Given the description of an element on the screen output the (x, y) to click on. 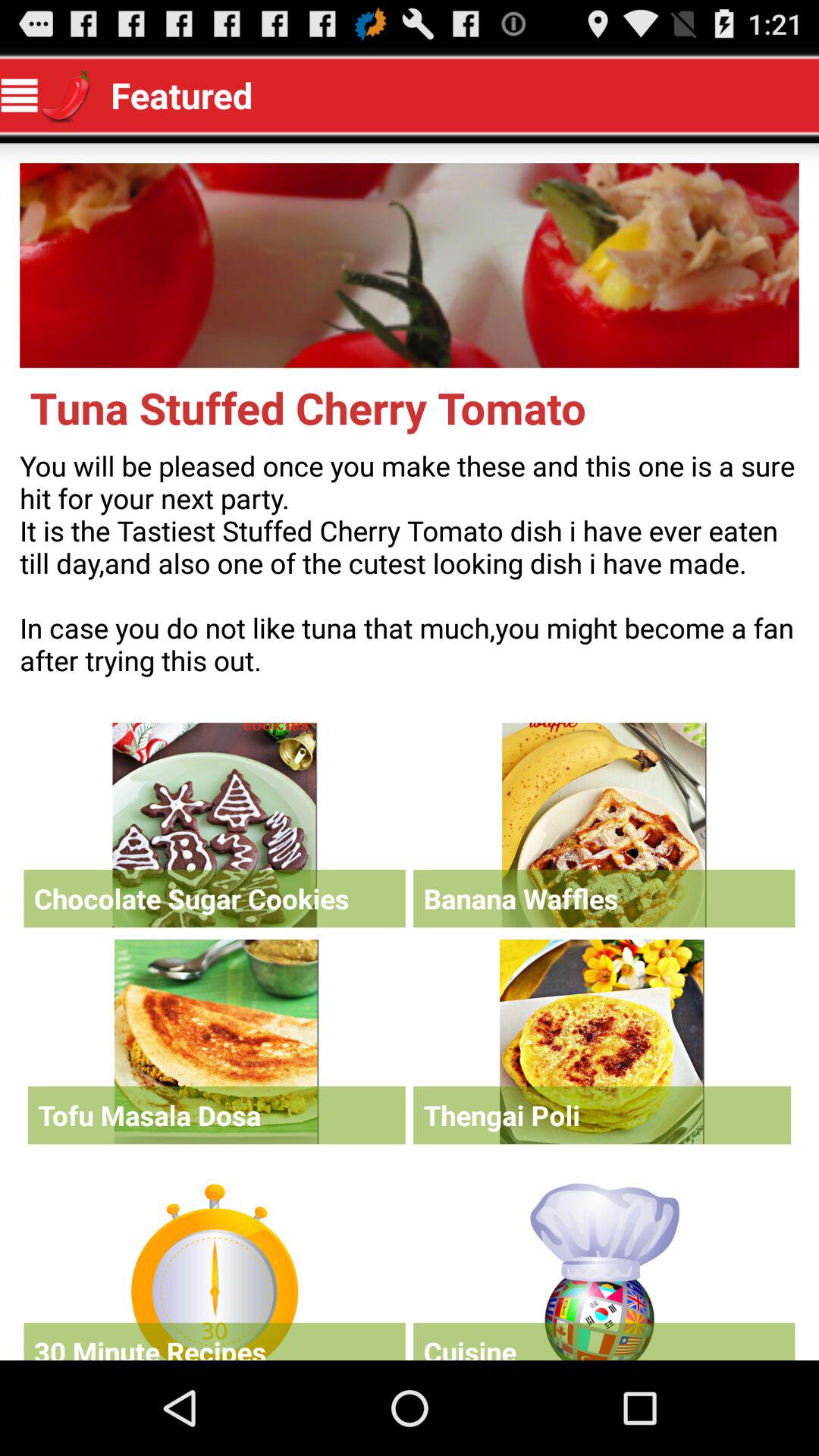
select the featured option (604, 1268)
